Given the description of an element on the screen output the (x, y) to click on. 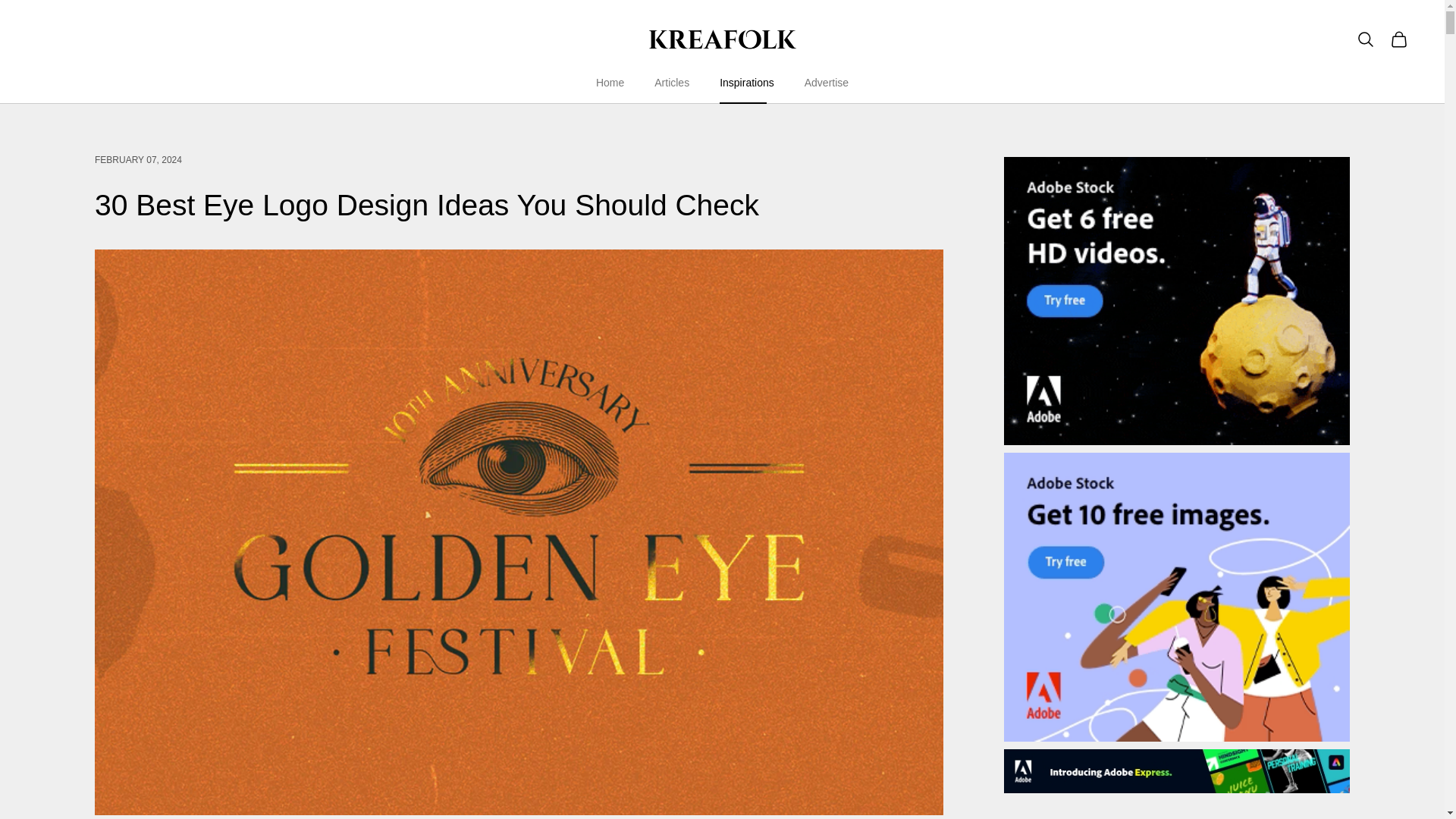
Open search (1365, 39)
Articles (670, 83)
Home (609, 83)
Advertise (826, 83)
Open cart (1398, 39)
Kreafolk (721, 38)
Inspirations (746, 83)
